Given the description of an element on the screen output the (x, y) to click on. 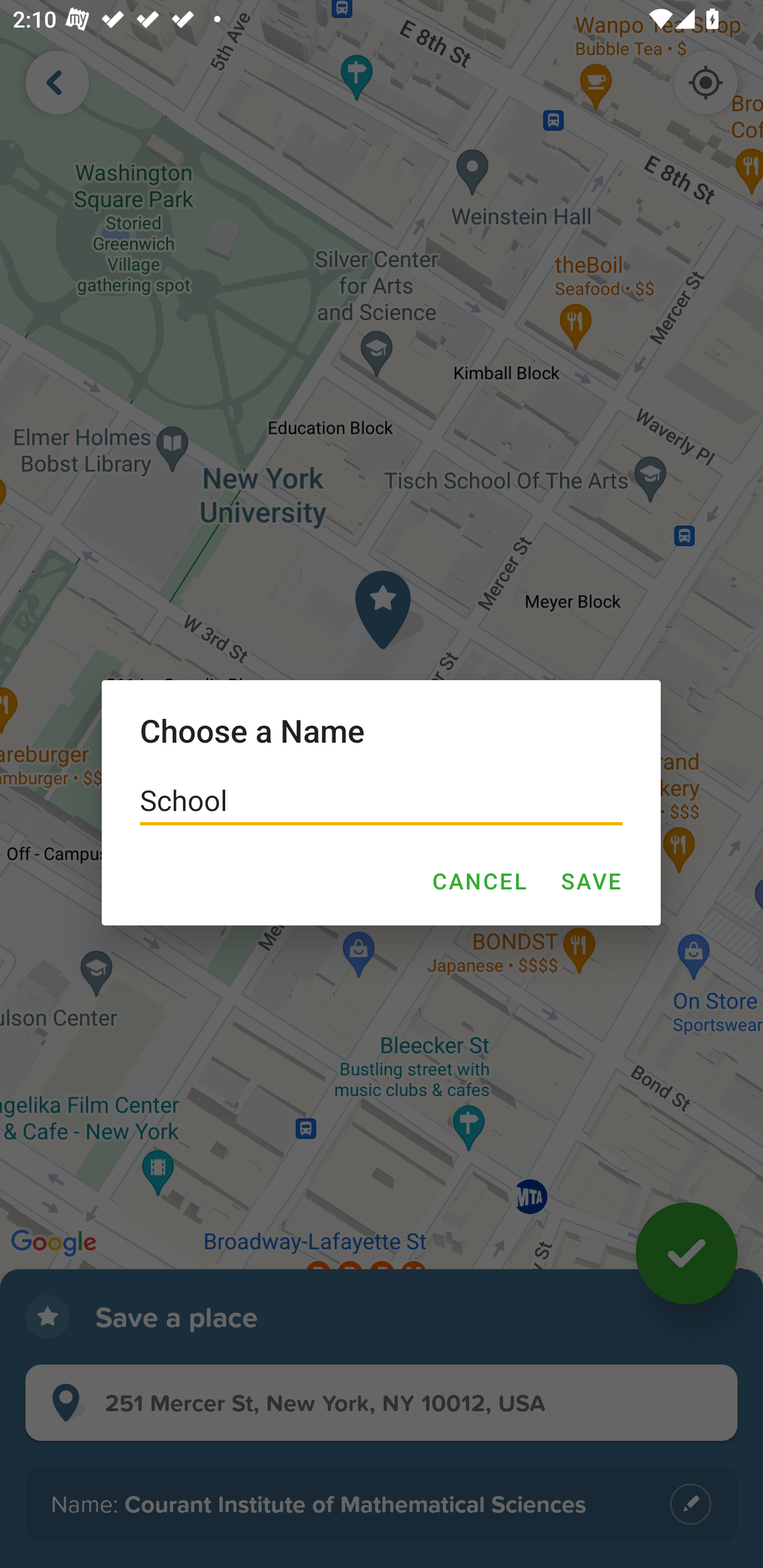
SAVE (590, 880)
